Given the description of an element on the screen output the (x, y) to click on. 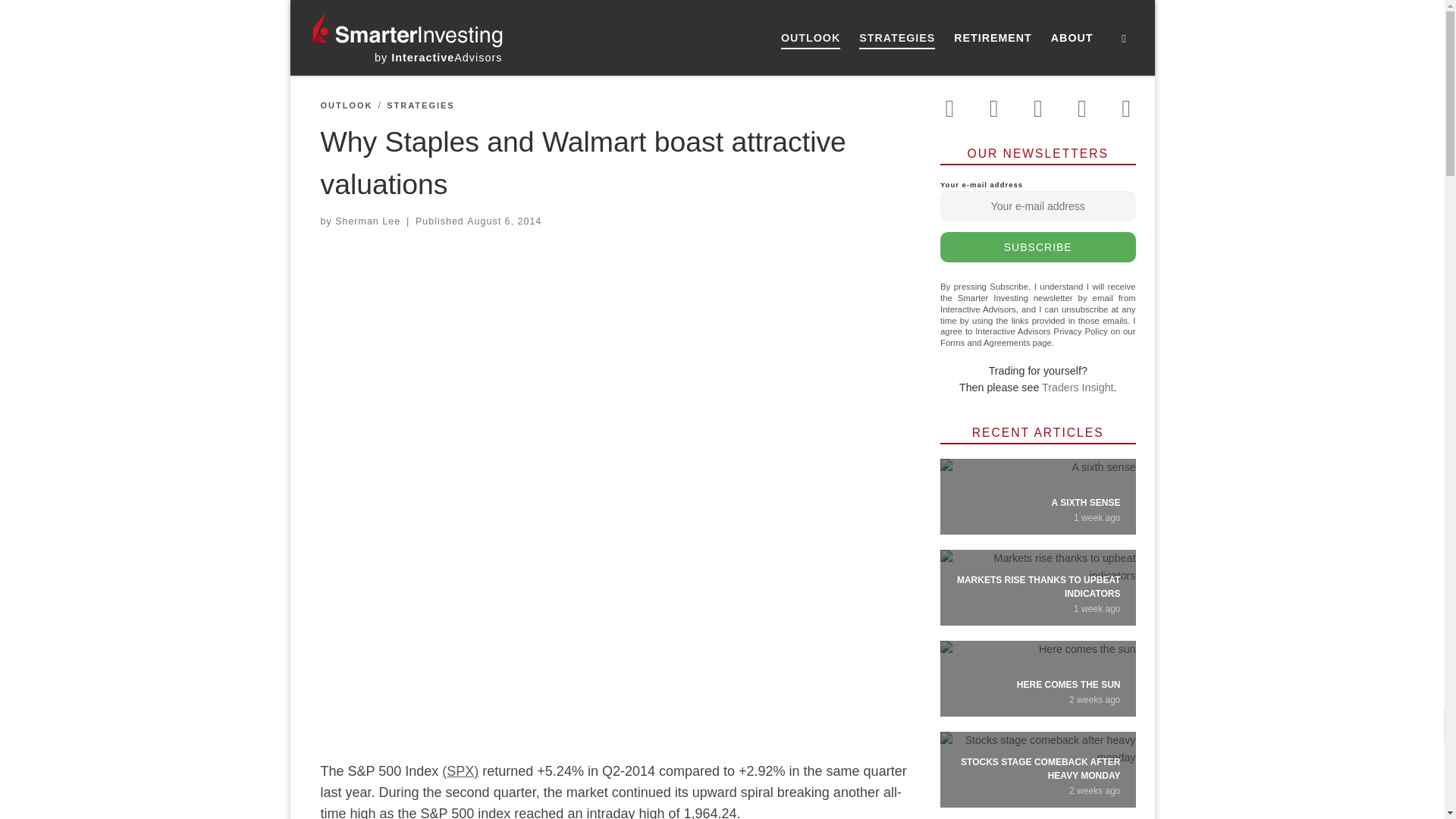
by InteractiveAdvisors (438, 57)
Sherman Lee (367, 221)
STRATEGIES (420, 105)
STRATEGIES (897, 38)
August 6, 2014 (504, 221)
View all posts in Outlook (346, 105)
Interactive Advisors (438, 57)
RETIREMENT (992, 38)
OUTLOOK (810, 38)
Subscribe (1037, 246)
